Given the description of an element on the screen output the (x, y) to click on. 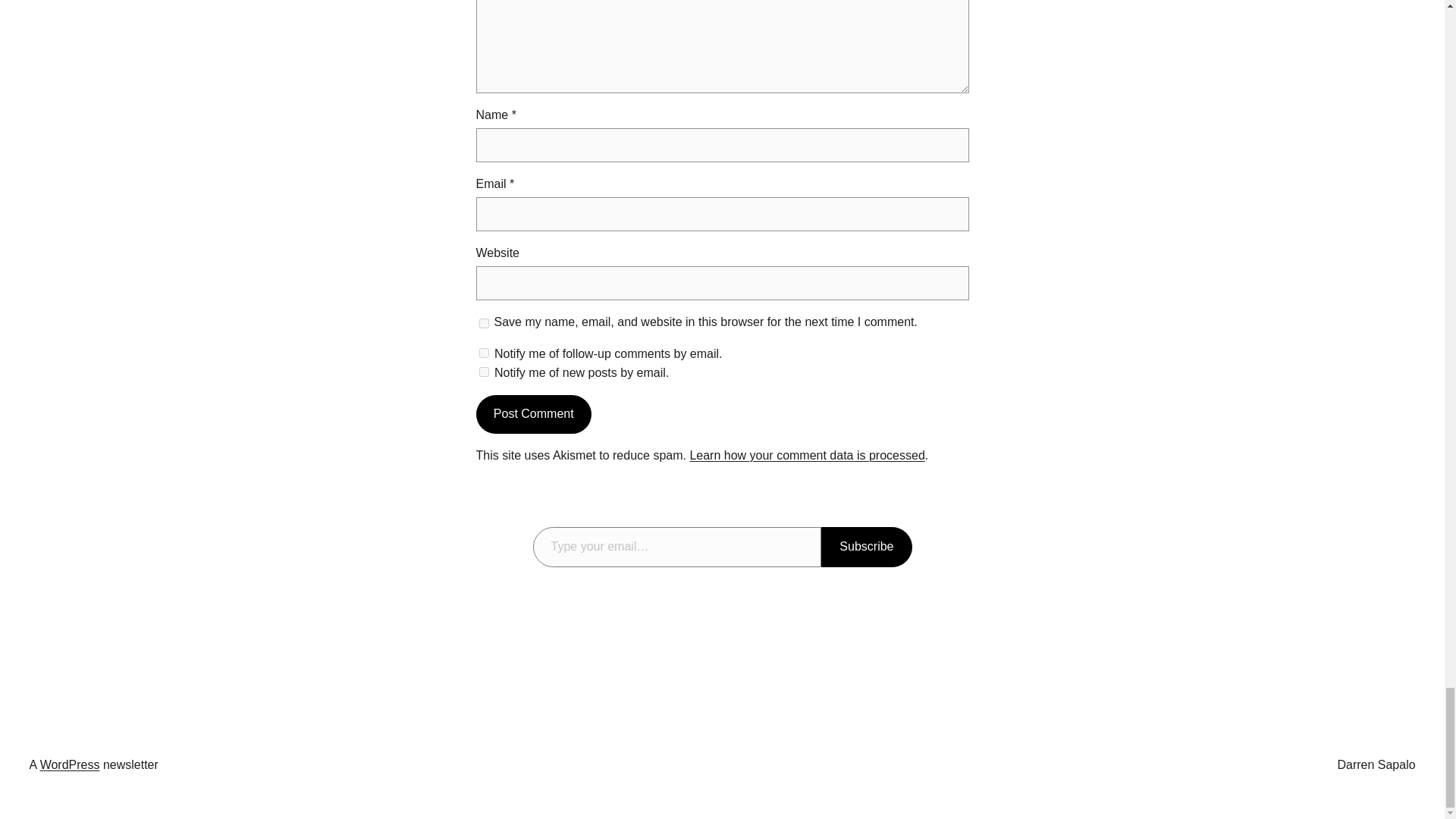
Post Comment (533, 414)
WordPress (70, 764)
Learn how your comment data is processed (806, 454)
Subscribe (866, 547)
Please fill in this field. (676, 547)
Post Comment (533, 414)
subscribe (484, 371)
Darren Sapalo (1375, 764)
yes (484, 323)
subscribe (484, 352)
